Given the description of an element on the screen output the (x, y) to click on. 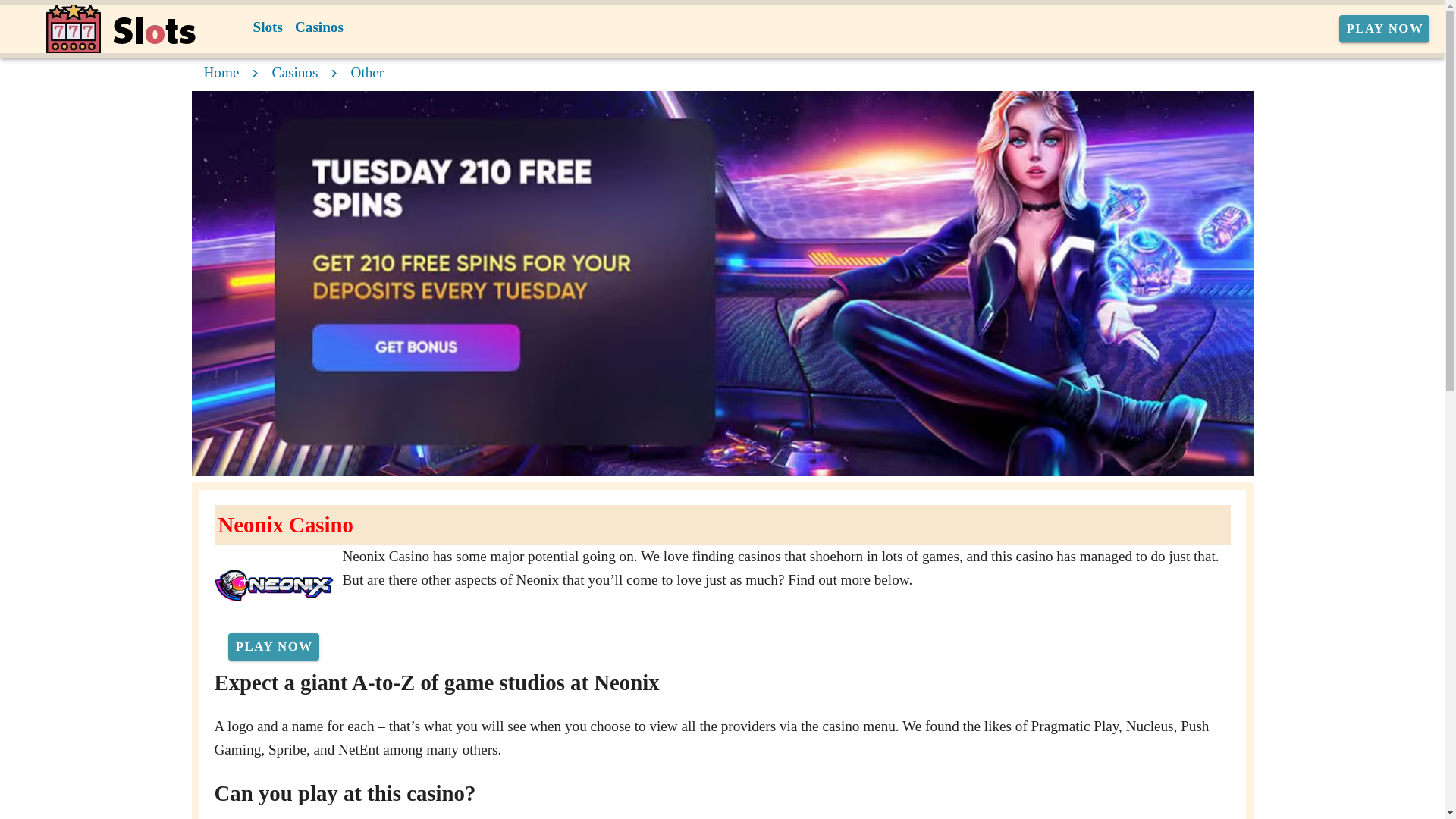
Home (220, 72)
PLAY NOW (1384, 28)
PLAY NOW (273, 646)
Casinos (318, 27)
Casinos (295, 72)
Slots (267, 27)
Other (367, 72)
